Given the description of an element on the screen output the (x, y) to click on. 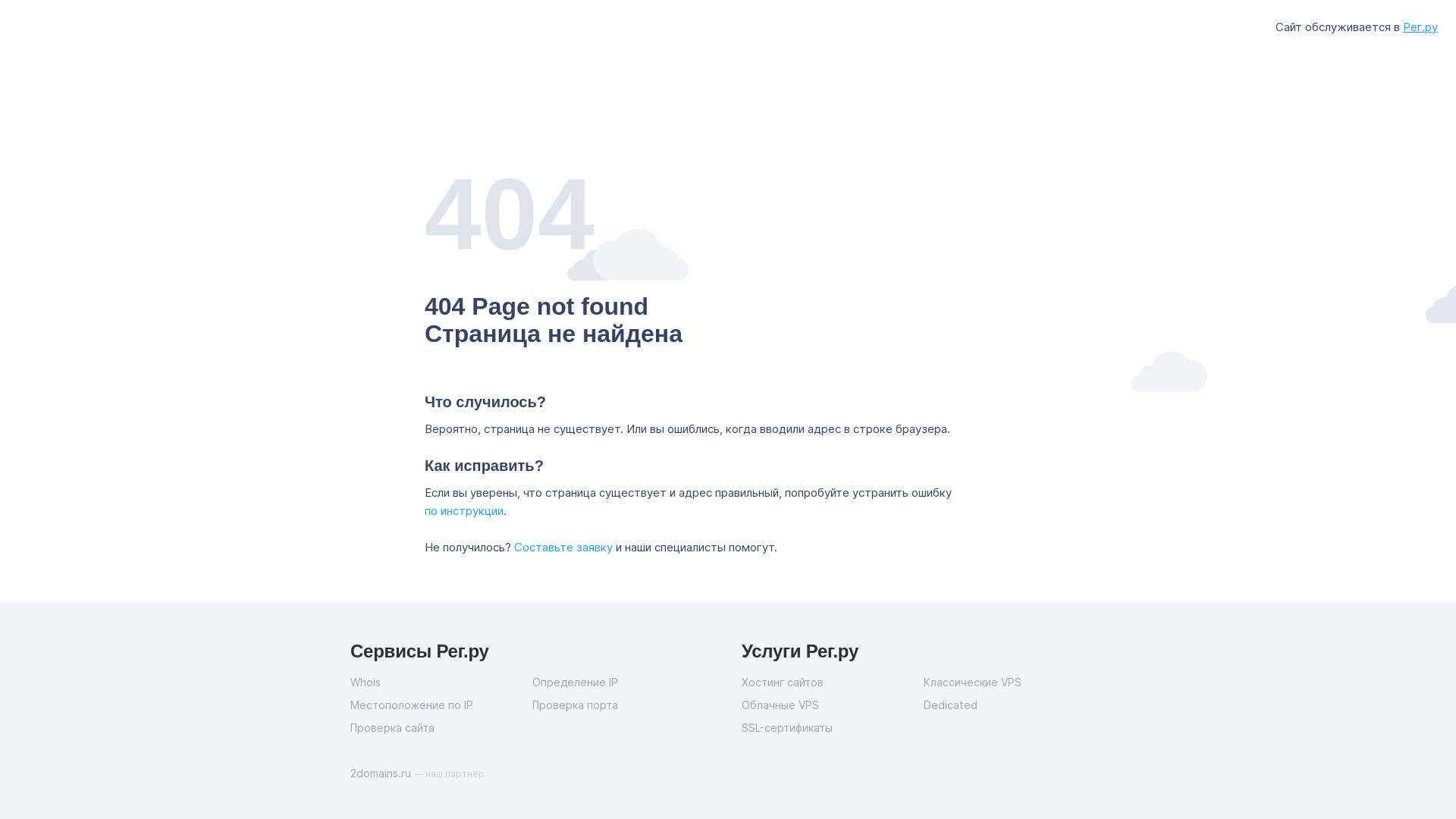
Whois Element type: text (441, 682)
Dedicated Element type: text (1014, 705)
2domains.ru Element type: text (382, 772)
